Given the description of an element on the screen output the (x, y) to click on. 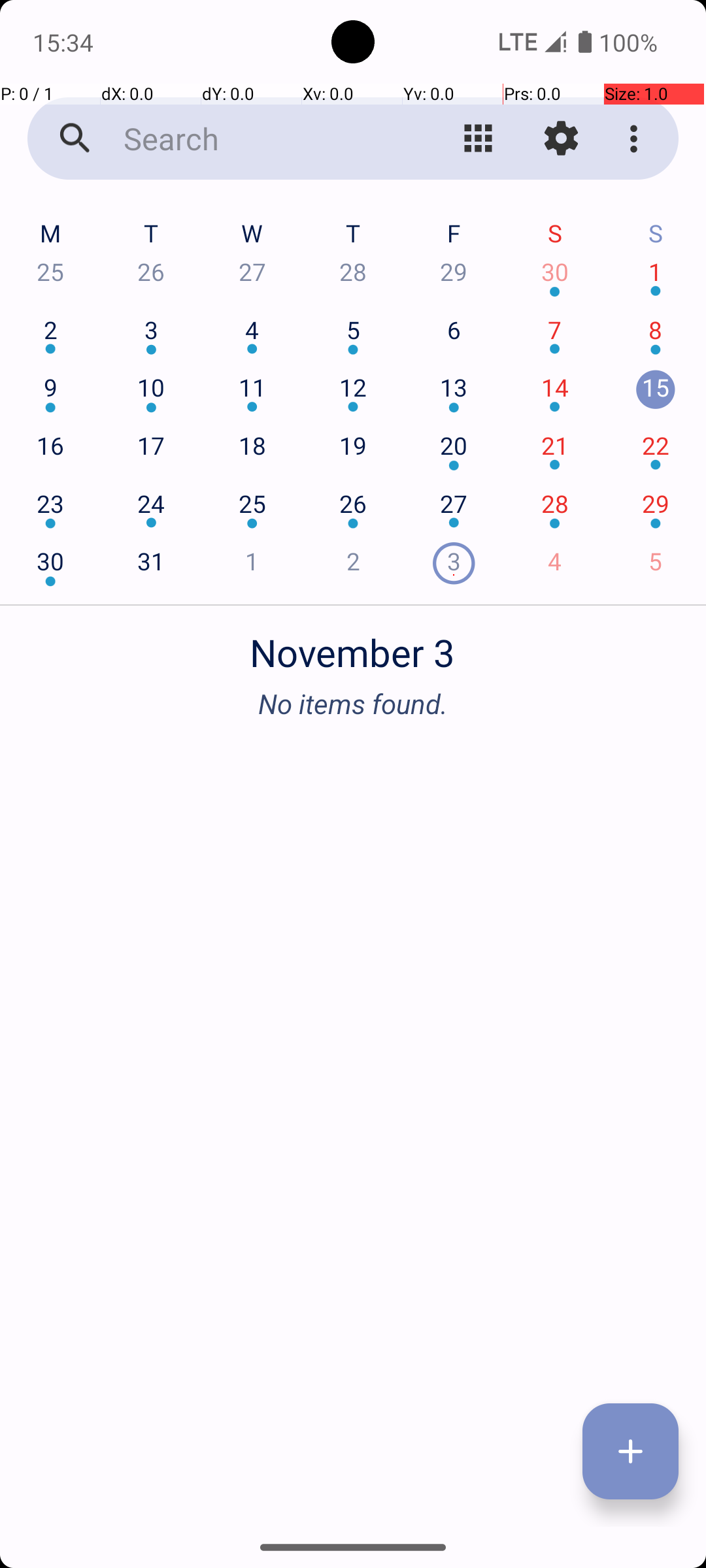
November 3 Element type: android.widget.TextView (352, 644)
